Given the description of an element on the screen output the (x, y) to click on. 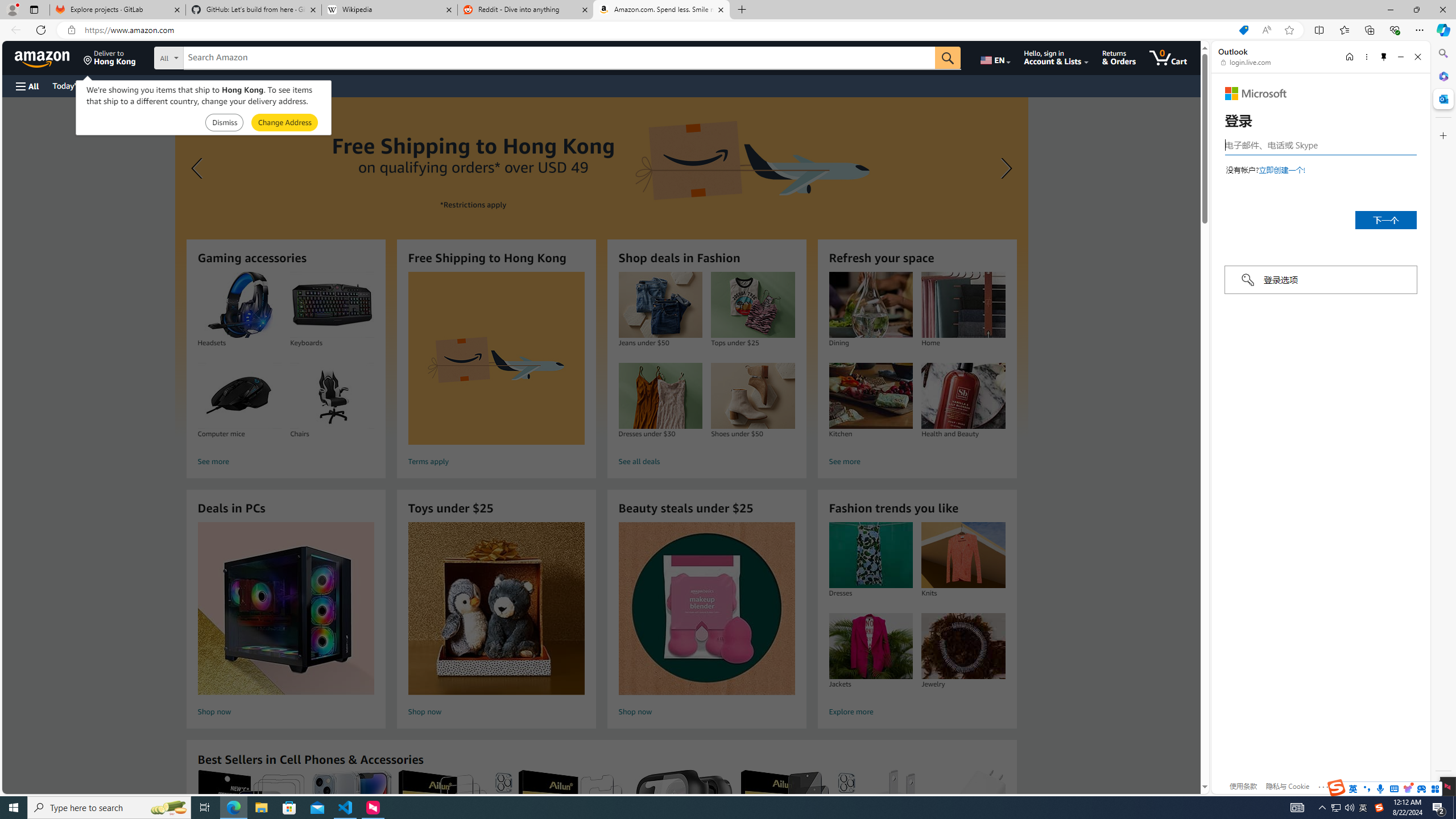
Deliver to Hong Kong (109, 57)
Toys under $25 (496, 608)
Next slide (1003, 168)
Jackets (870, 645)
Jewelry (963, 645)
Health and Beauty (963, 395)
Kitchen (870, 395)
Jeans under $50 (660, 304)
